Given the description of an element on the screen output the (x, y) to click on. 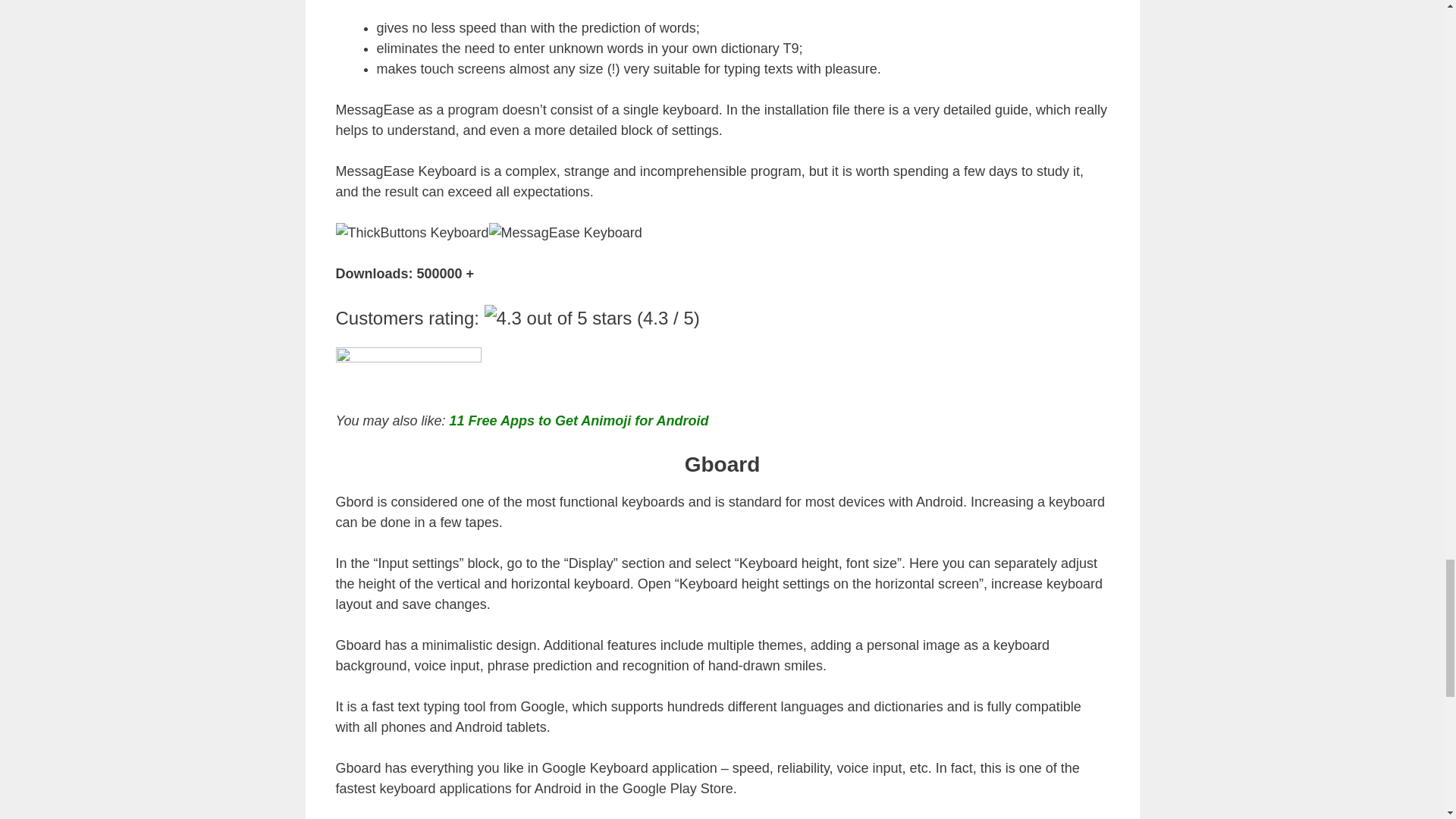
11 Free Apps to Get Animoji for Android (579, 420)
